Given the description of an element on the screen output the (x, y) to click on. 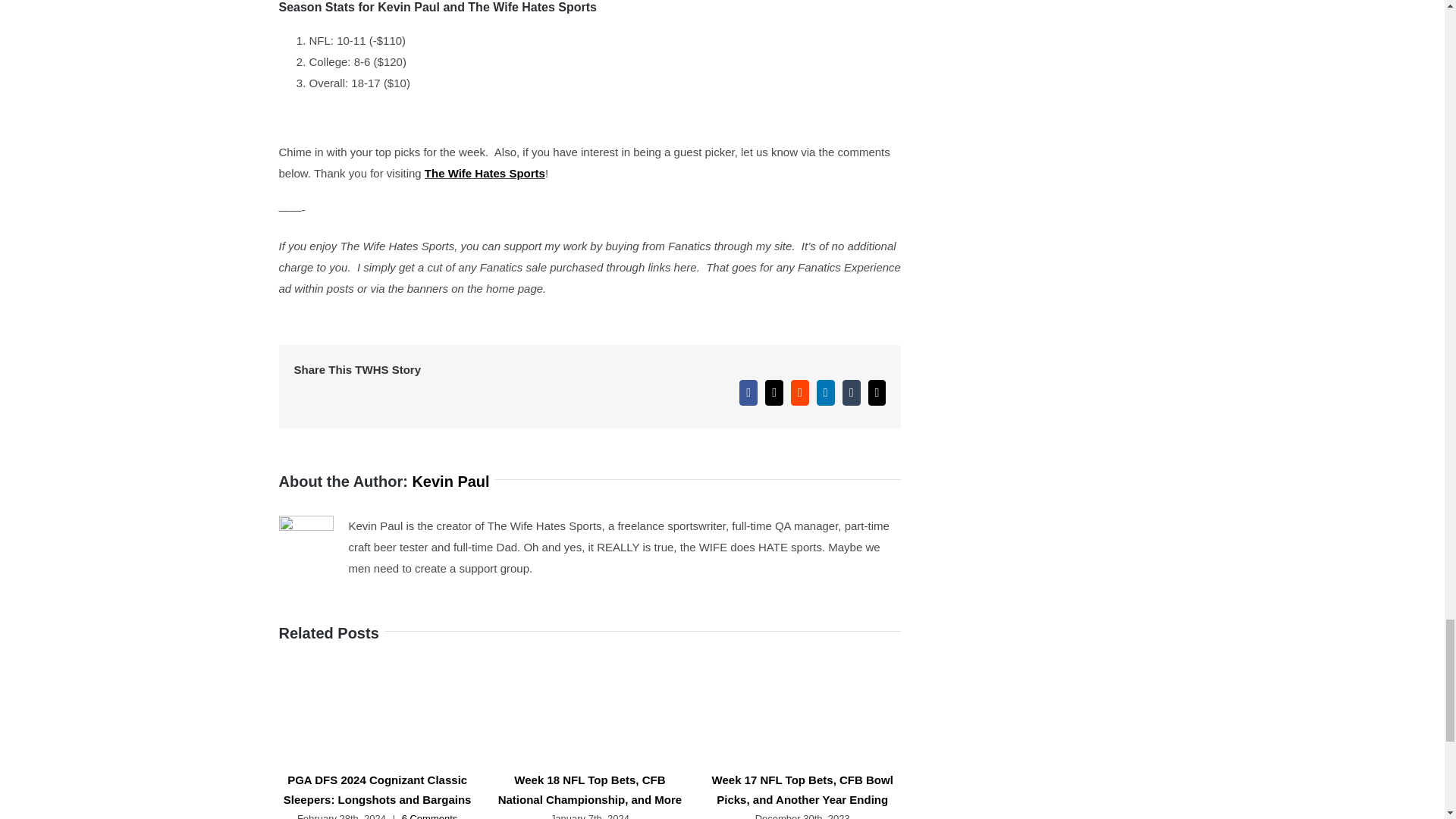
The Wife Hates Sports (484, 173)
Posts by Kevin Paul (450, 481)
Kevin Paul (450, 481)
Week 18 NFL Top Bets, CFB National Championship, and More (589, 789)
